Given the description of an element on the screen output the (x, y) to click on. 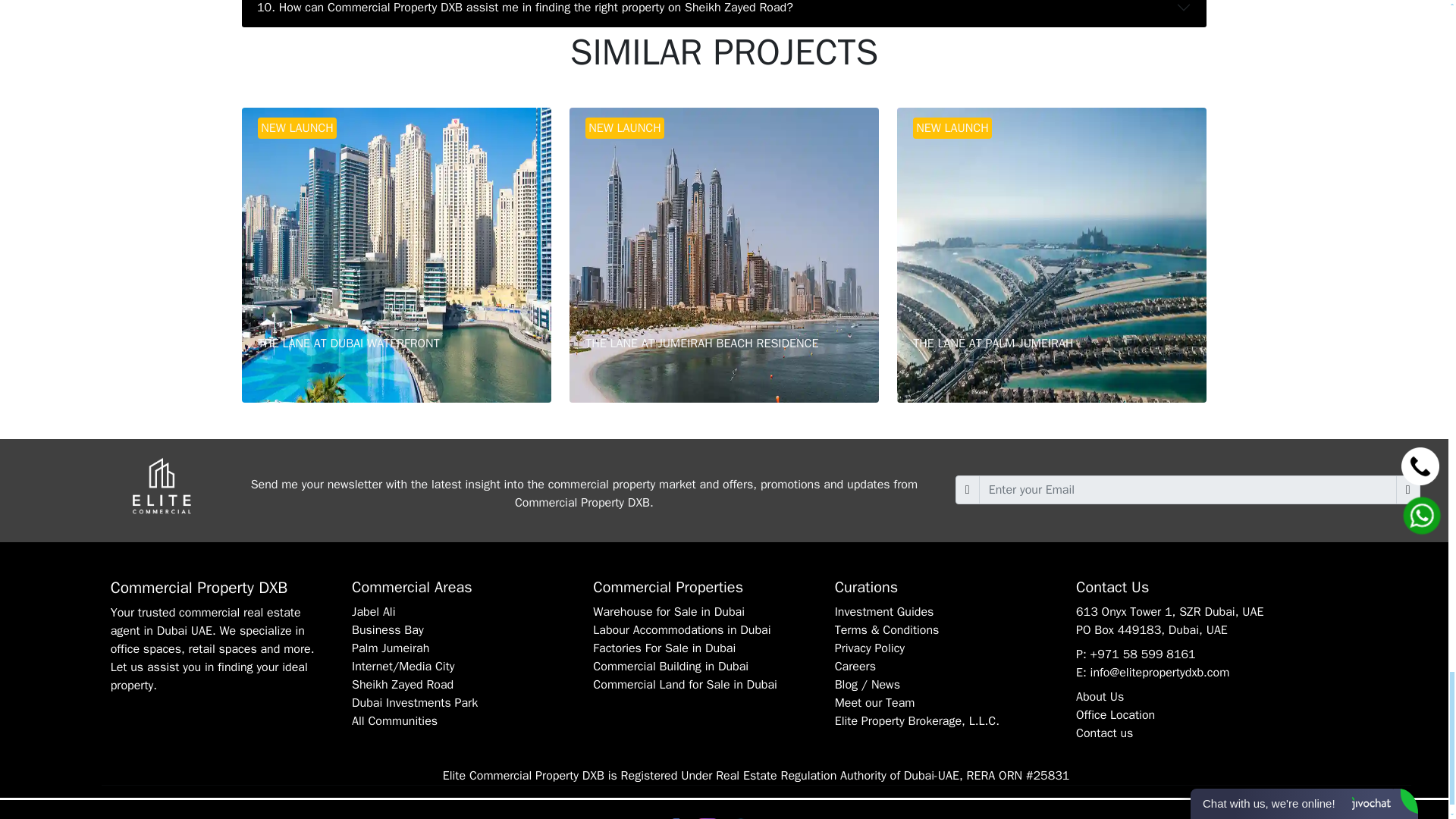
Sheikh Zayed Road (402, 684)
Dubai Investments Park (414, 702)
All Communities (1051, 254)
Palm Jumeirah (395, 720)
Jabel Ali (724, 254)
Business Bay (390, 648)
